Given the description of an element on the screen output the (x, y) to click on. 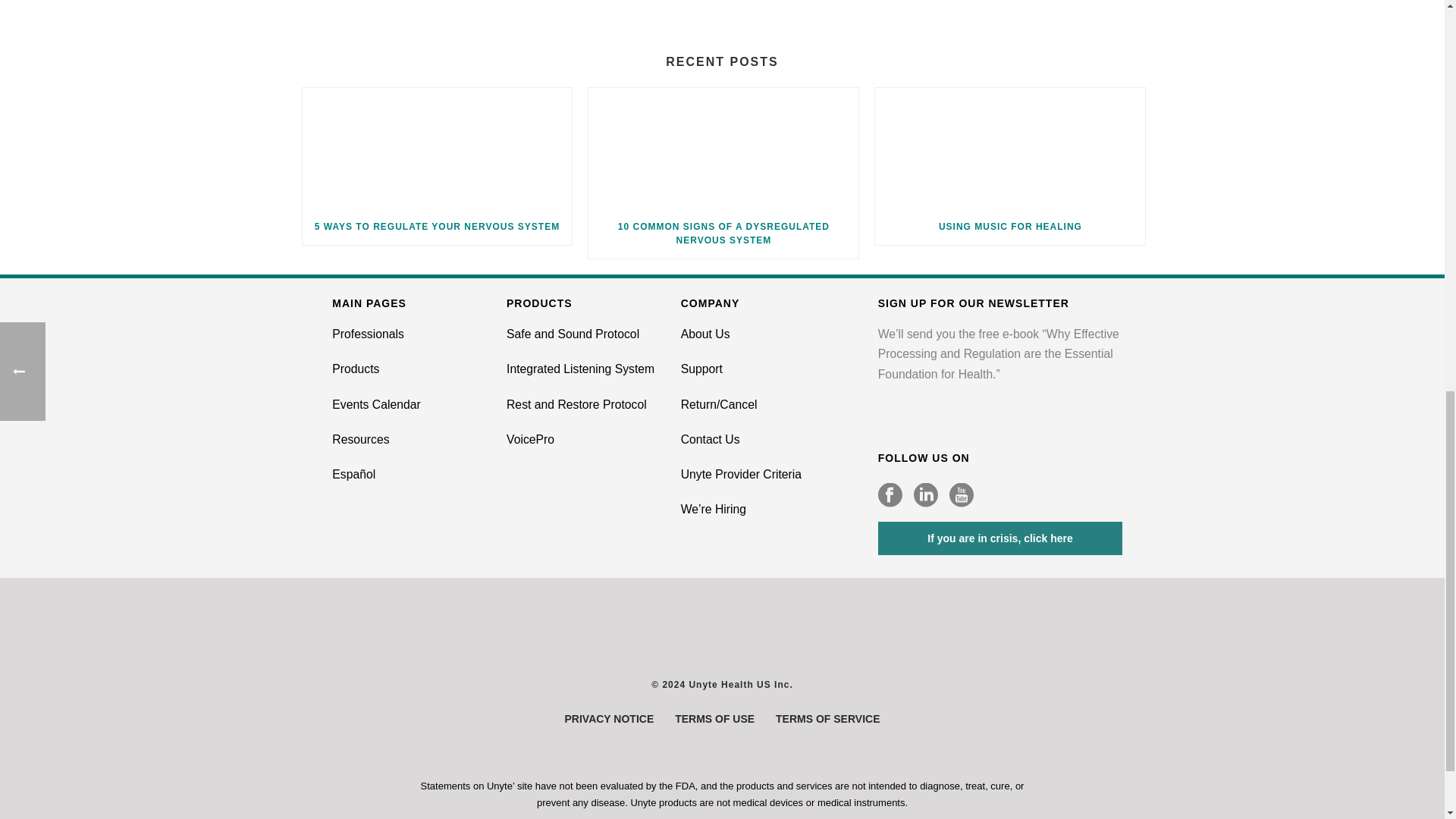
5 Ways to Regulate Your Nervous System (436, 147)
Using Music for Healing (1009, 147)
Follow Us on linkedin (925, 495)
Follow Us on youtube (961, 495)
10 common signs of a dysregulated nervous system (723, 147)
Follow Us on facebook (889, 495)
